Given the description of an element on the screen output the (x, y) to click on. 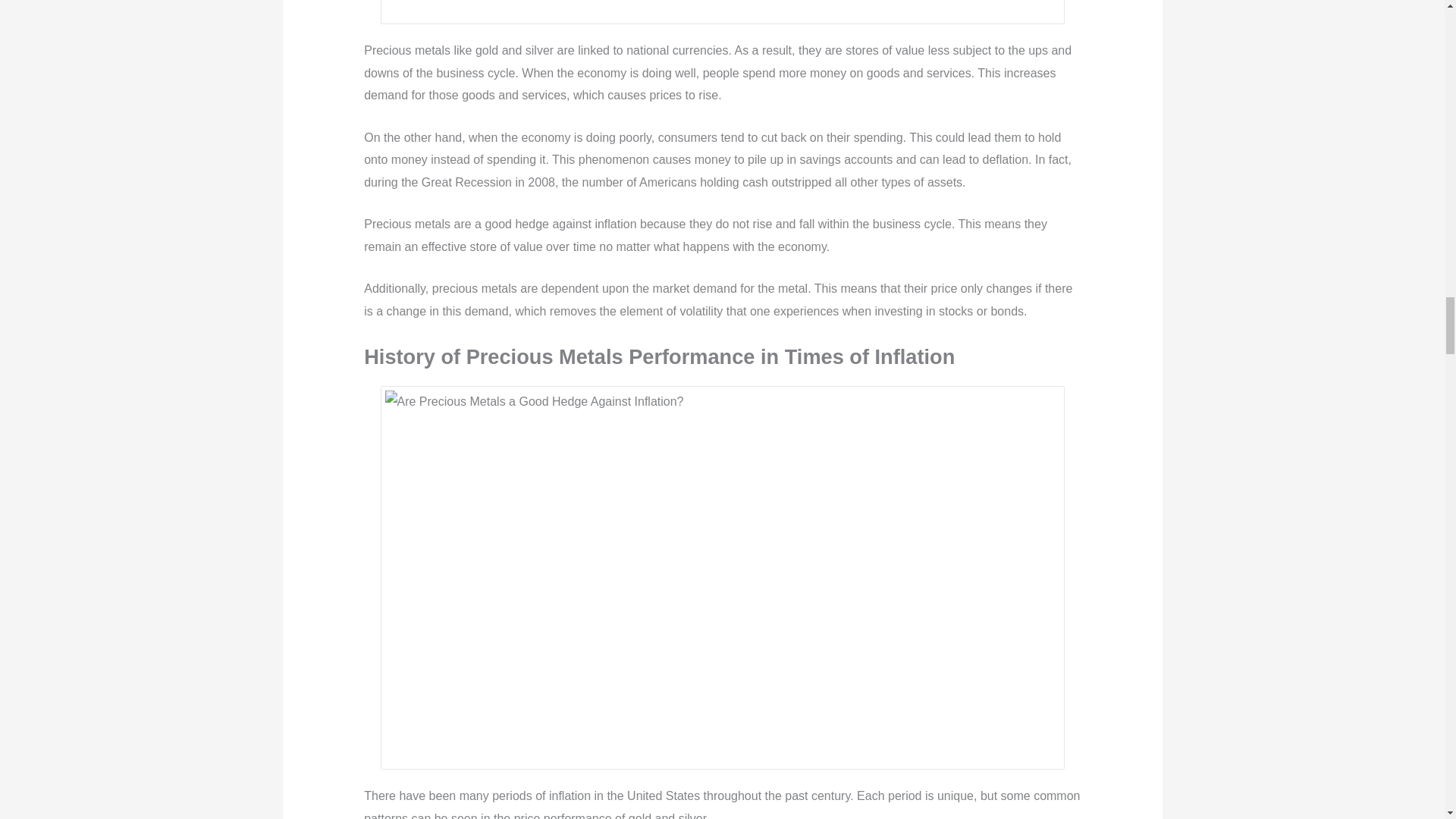
Are Precious Metals a Good Hedge Against Inflation? (722, 9)
